Given the description of an element on the screen output the (x, y) to click on. 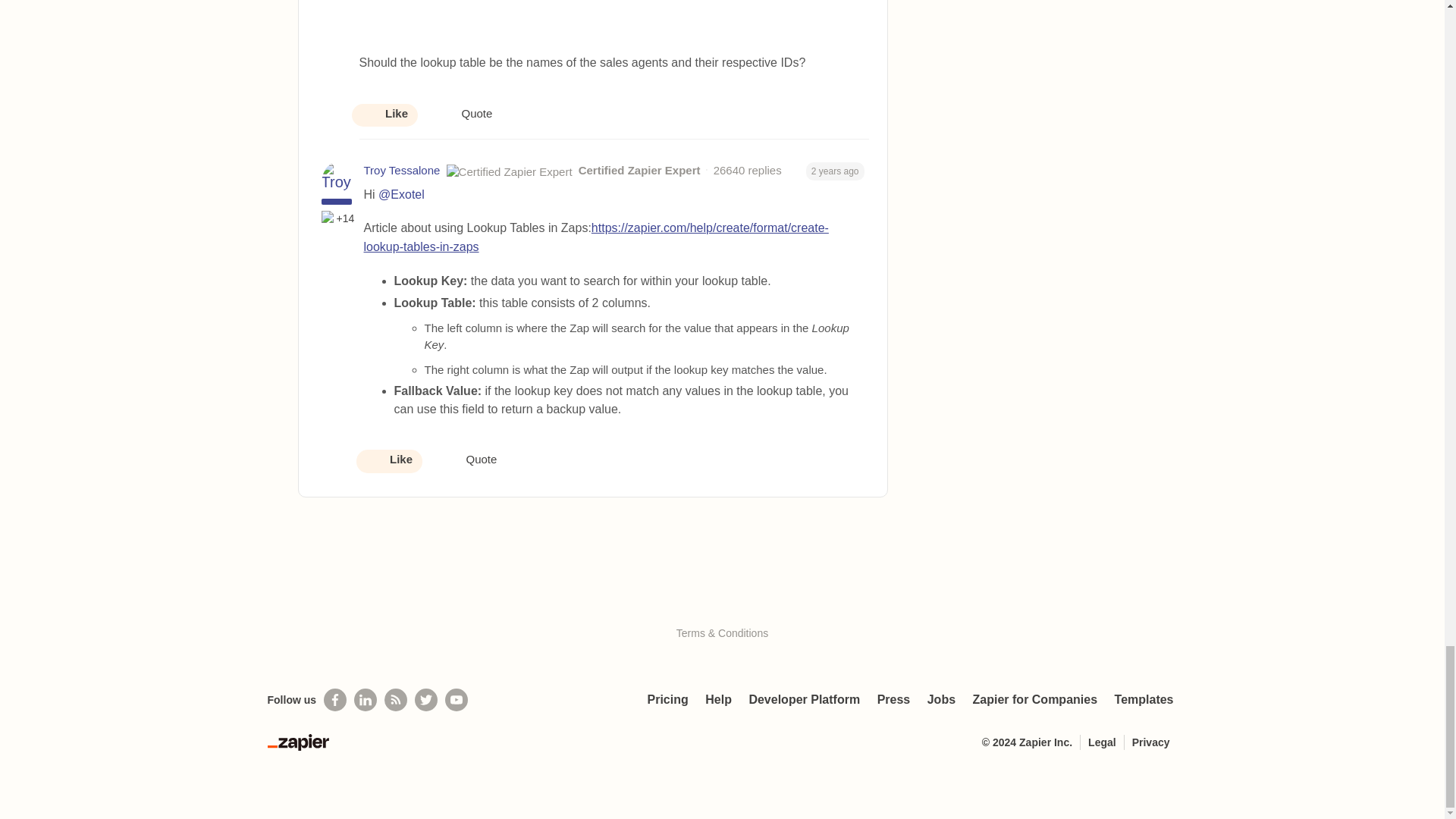
First Best Answer (328, 218)
See helpful Zapier videos on Youtube (456, 699)
Follow us on LinkedIn (365, 699)
Follow us on Facebook (334, 699)
Visit Gainsight.com (722, 601)
Subscribe to our blog (395, 699)
Troy Tessalone (402, 170)
